Given the description of an element on the screen output the (x, y) to click on. 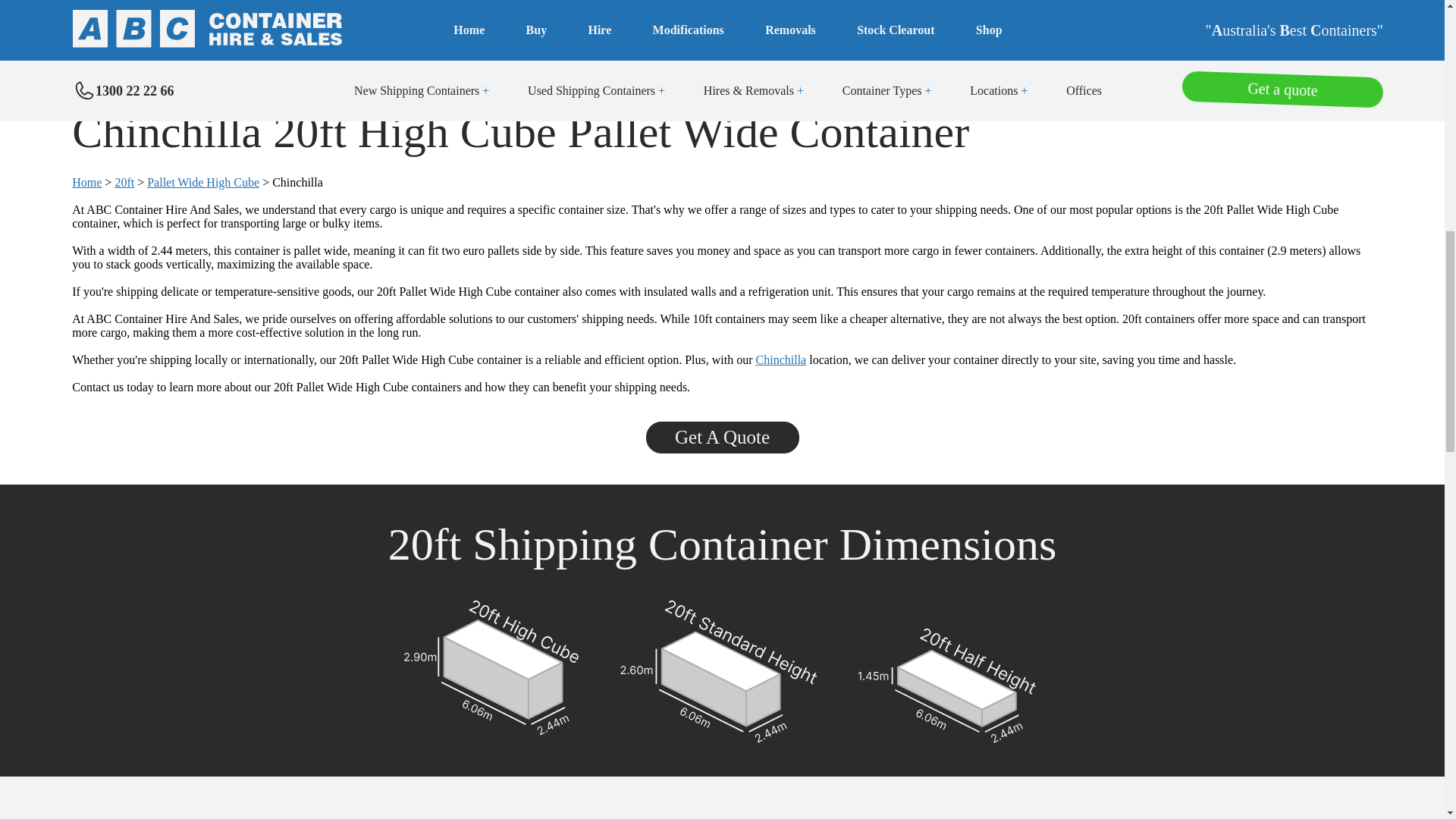
Pallet Wide High Cube (203, 182)
Home (86, 182)
Chinchilla (780, 359)
20ft (124, 182)
Get A Quote (722, 439)
